Given the description of an element on the screen output the (x, y) to click on. 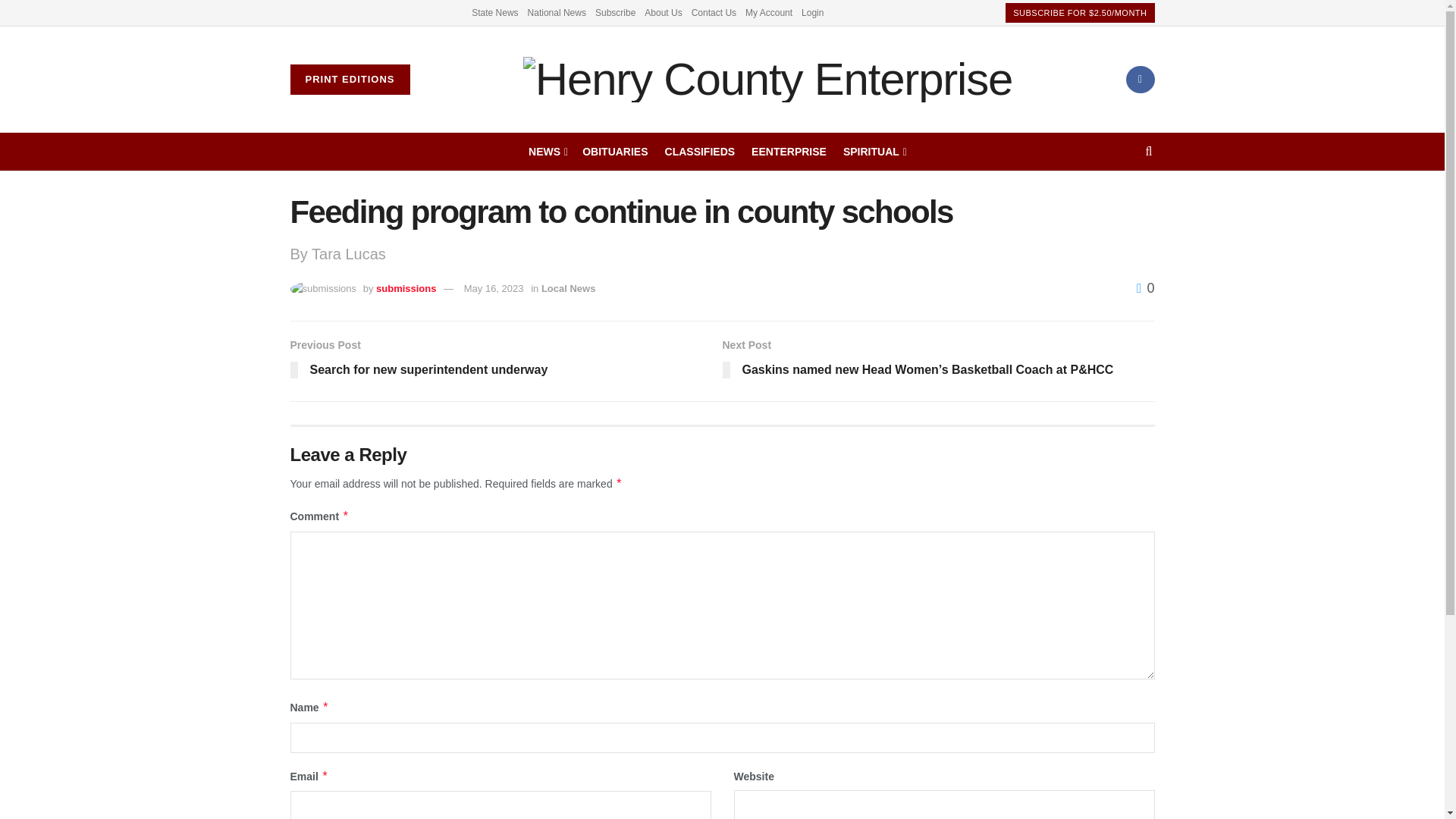
0 (1145, 287)
State News (494, 12)
National News (556, 12)
Contact Us (713, 12)
About Us (663, 12)
submissions (405, 288)
My Account (768, 12)
SPIRITUAL (873, 151)
PRINT EDITIONS (349, 79)
Subscribe (614, 12)
NEWS (547, 151)
CLASSIFIEDS (700, 151)
OBITUARIES (614, 151)
May 16, 2023 (494, 288)
EENTERPRISE (789, 151)
